Given the description of an element on the screen output the (x, y) to click on. 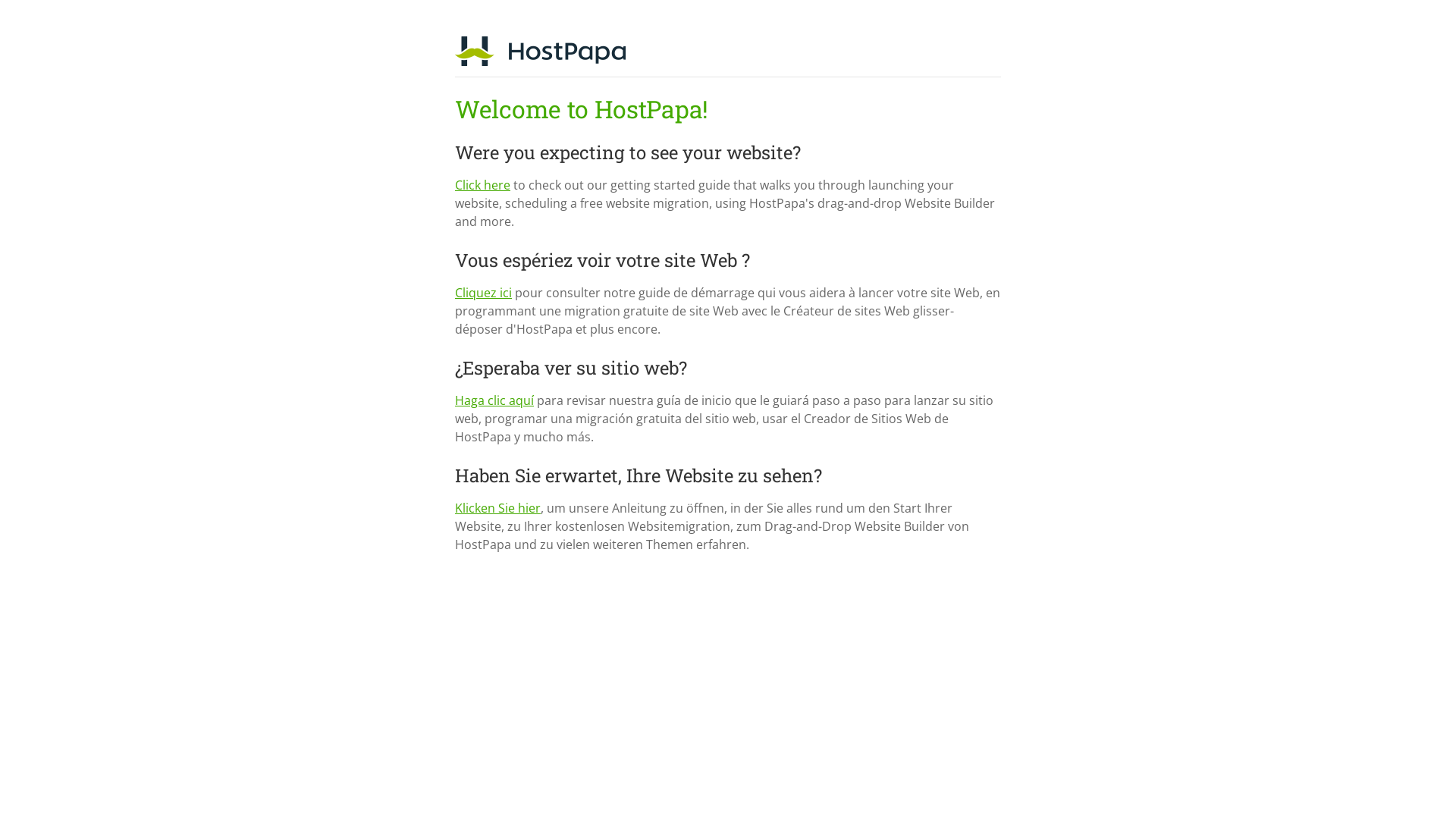
Click here Element type: text (482, 184)
Cliquez ici Element type: text (483, 292)
Klicken Sie hier Element type: text (497, 507)
